Given the description of an element on the screen output the (x, y) to click on. 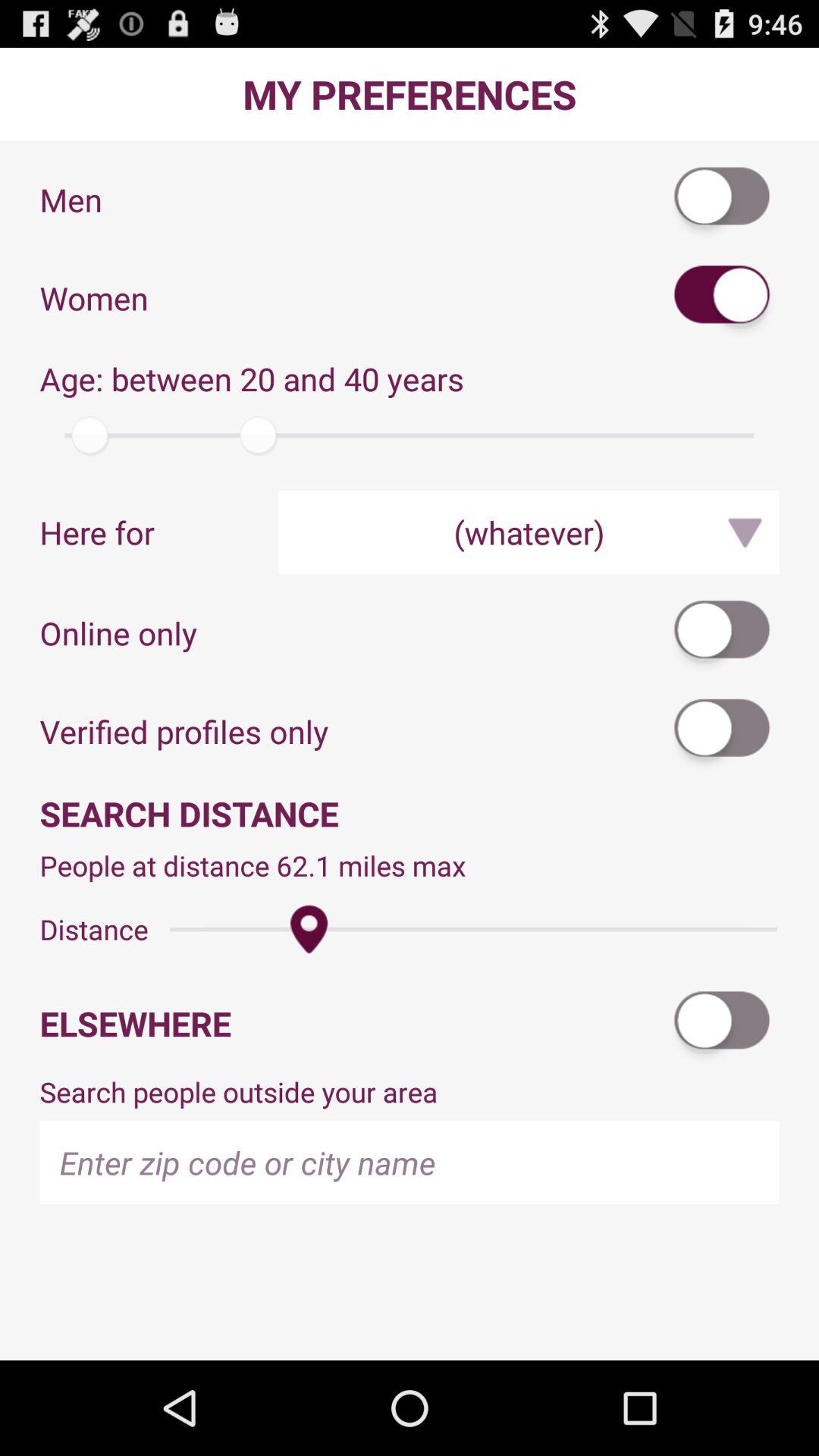
type in zip code or city name (409, 1162)
